Given the description of an element on the screen output the (x, y) to click on. 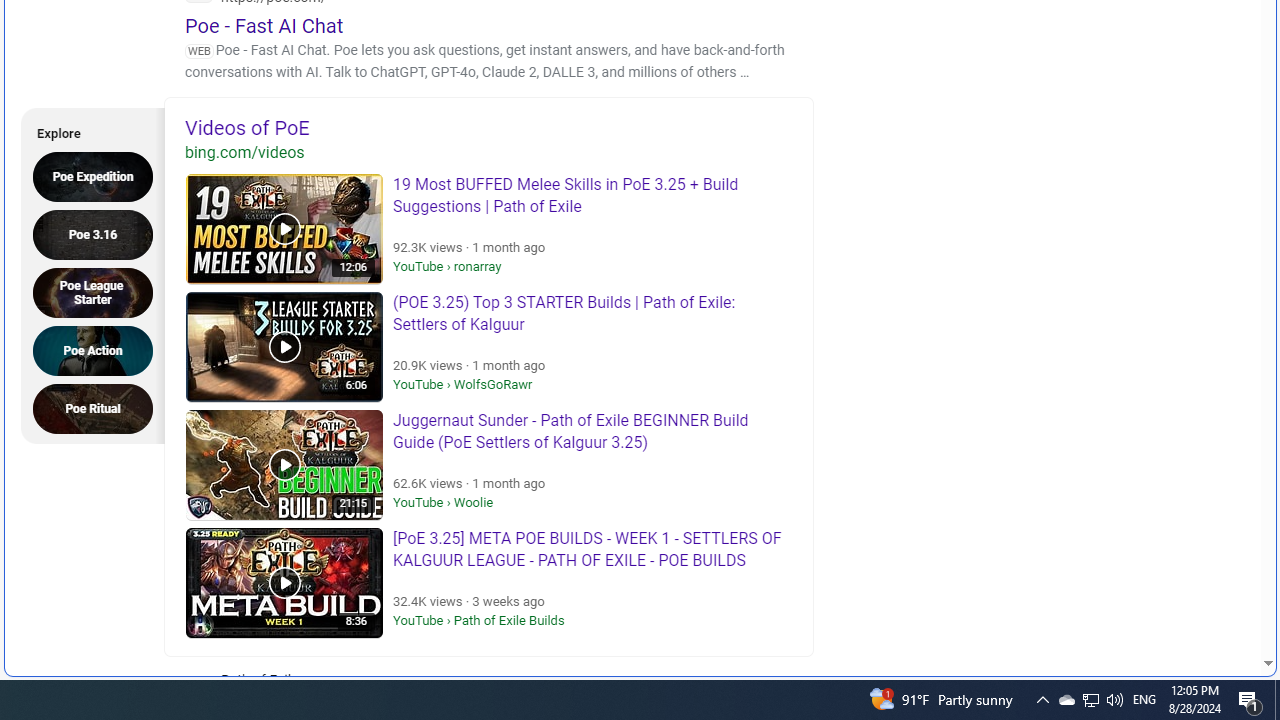
Poe - Fast AI Chat (1066, 699)
Poe Ritual (264, 25)
AutomationID: mfa_root (99, 408)
Videos of PoE (1192, 603)
Poe Expedition (489, 127)
Tray Input Indicator - English (United States) (99, 176)
Poe 3.16 (1144, 699)
Action Center, 1 new notification (99, 233)
Show desktop (1250, 699)
Search more (1277, 699)
User Promoted Notification Area (1222, 604)
